Given the description of an element on the screen output the (x, y) to click on. 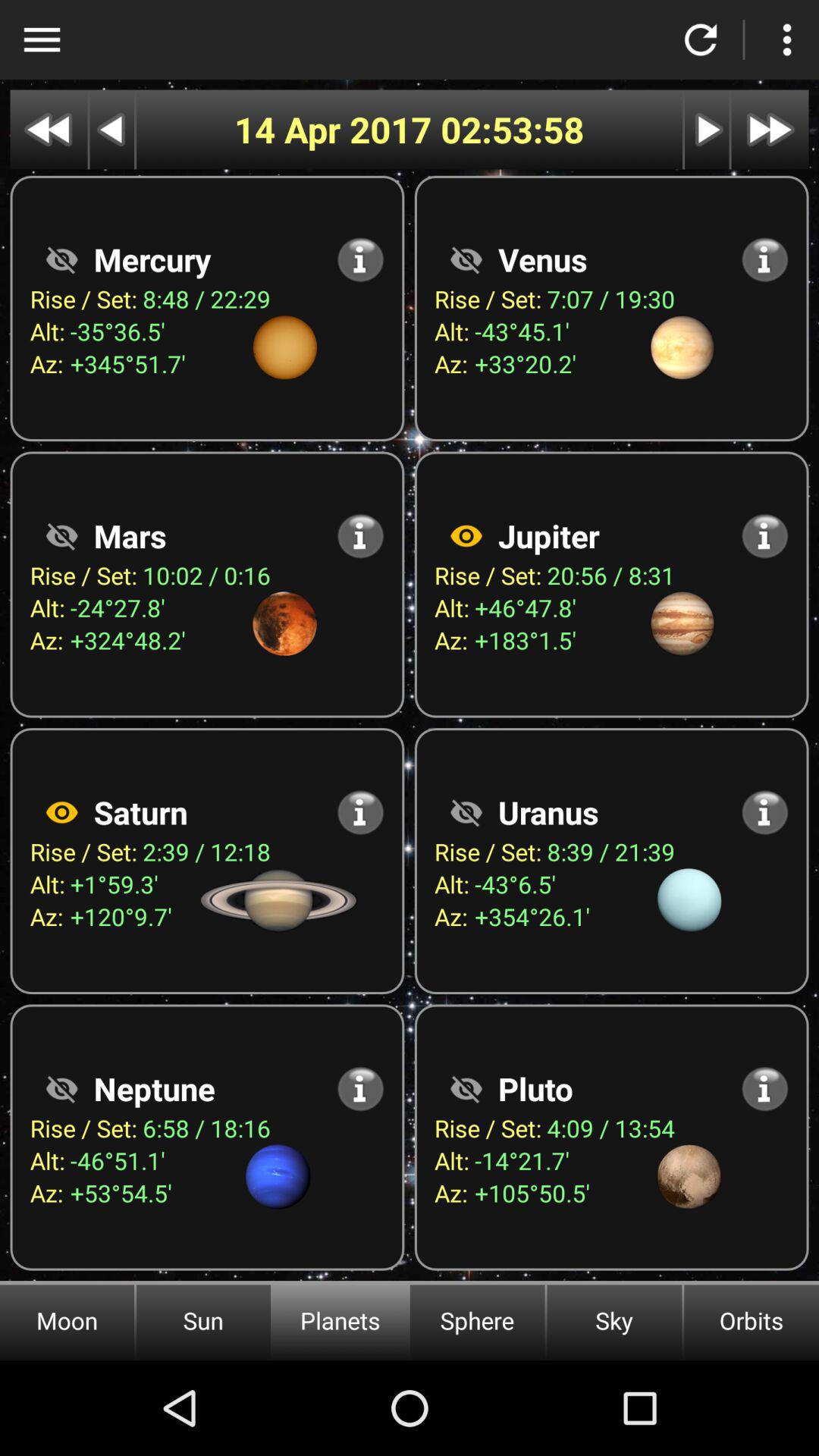
go to previous day (111, 129)
